Given the description of an element on the screen output the (x, y) to click on. 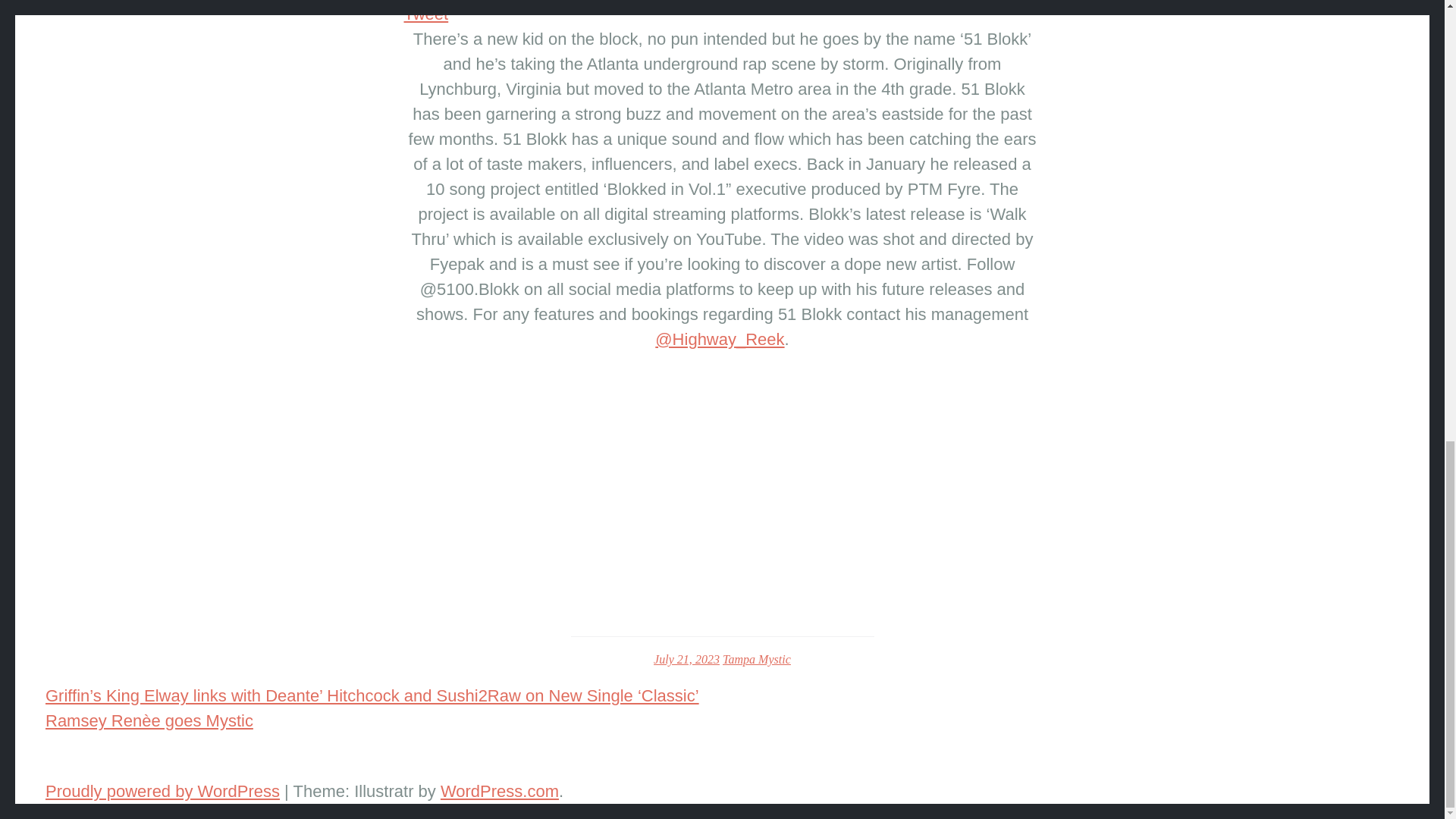
Tampa Mystic (756, 658)
Tweet (425, 13)
YouTube video player (721, 486)
July 21, 2023 (686, 658)
